Given the description of an element on the screen output the (x, y) to click on. 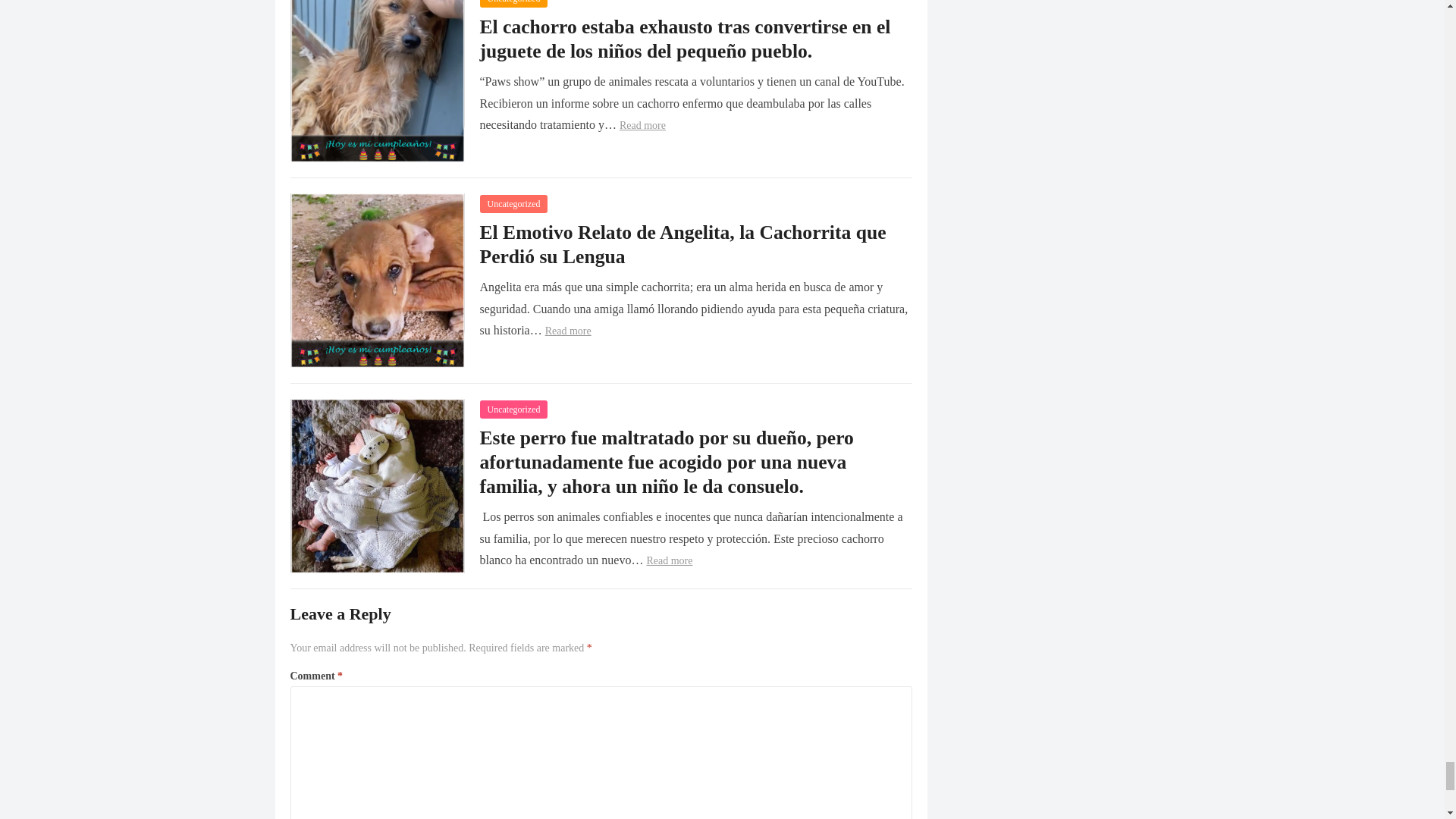
Read more (567, 330)
Uncategorized (513, 203)
Uncategorized (513, 3)
Read more (642, 125)
Uncategorized (513, 409)
Read more (669, 560)
